Given the description of an element on the screen output the (x, y) to click on. 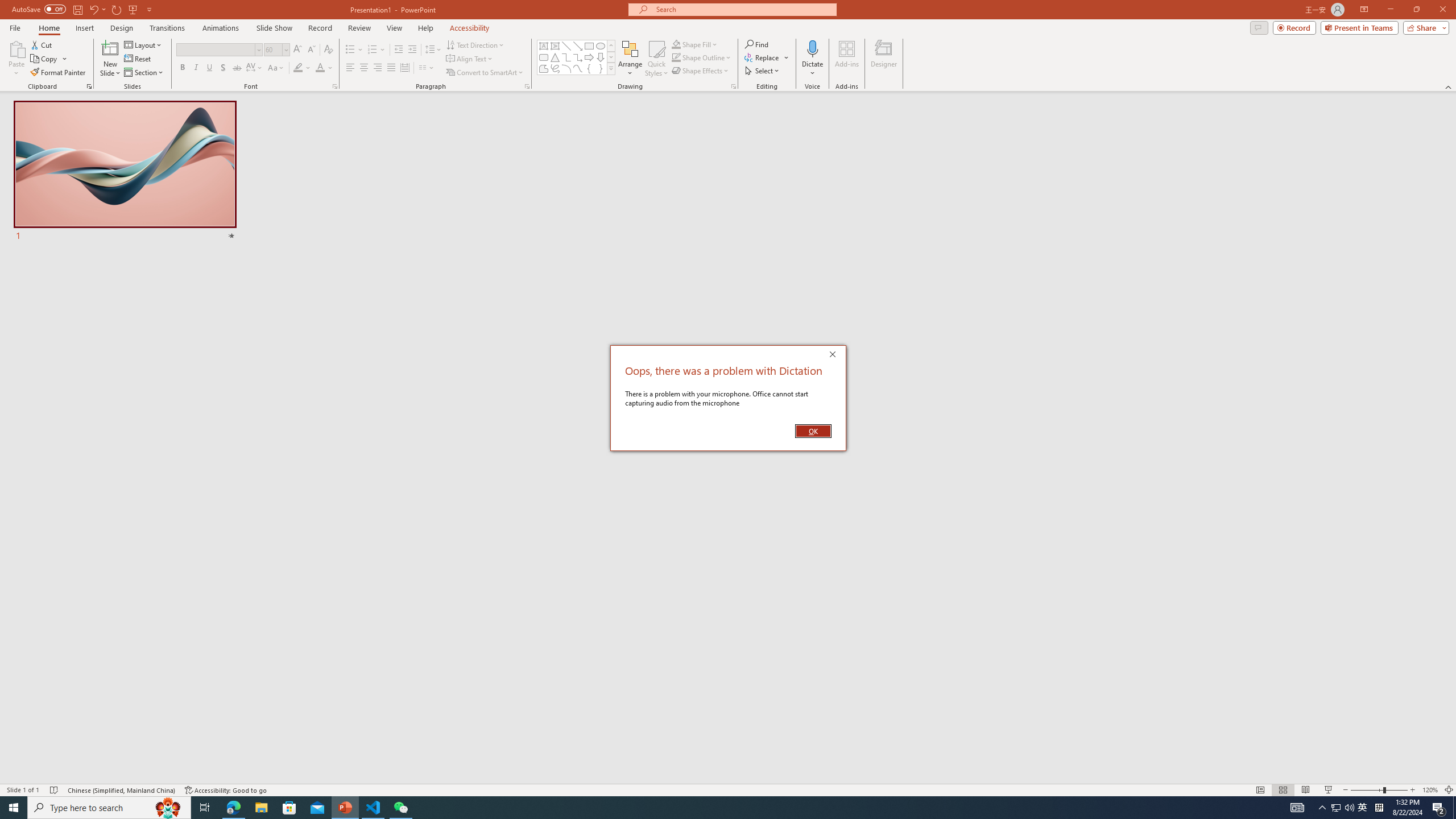
Shape Outline Blue, Accent 1 (675, 56)
